Given the description of an element on the screen output the (x, y) to click on. 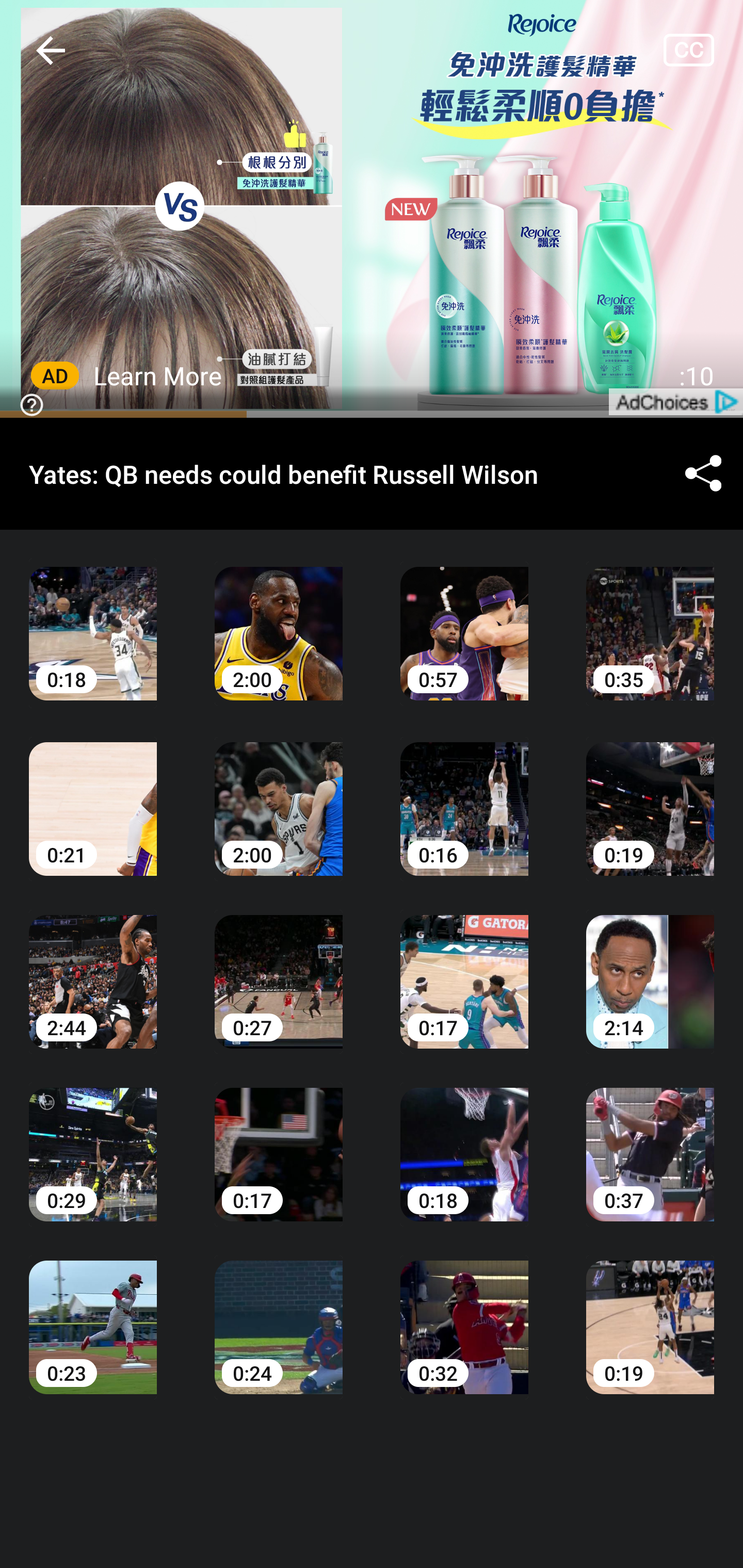
Why This Ad? get?name=admarker-full-tl (371, 209)
Navigate up (50, 50)
Closed captions  (703, 49)
Learn More (157, 375)
get?name=admarker-full-tl (675, 401)
Why This Ad? (27, 403)
Share © (703, 474)
0:18 (92, 618)
2:00 (278, 618)
0:57 (464, 618)
0:35 (650, 618)
0:21 (92, 794)
2:00 (278, 794)
0:16 (464, 794)
0:19 (650, 794)
2:44 (92, 967)
0:27 (278, 967)
0:17 (464, 967)
2:14 (650, 967)
0:29 (92, 1139)
0:17 (278, 1139)
0:18 (464, 1139)
0:37 (650, 1139)
0:23 (92, 1312)
0:24 (278, 1312)
0:32 (464, 1312)
0:19 (650, 1312)
